Given the description of an element on the screen output the (x, y) to click on. 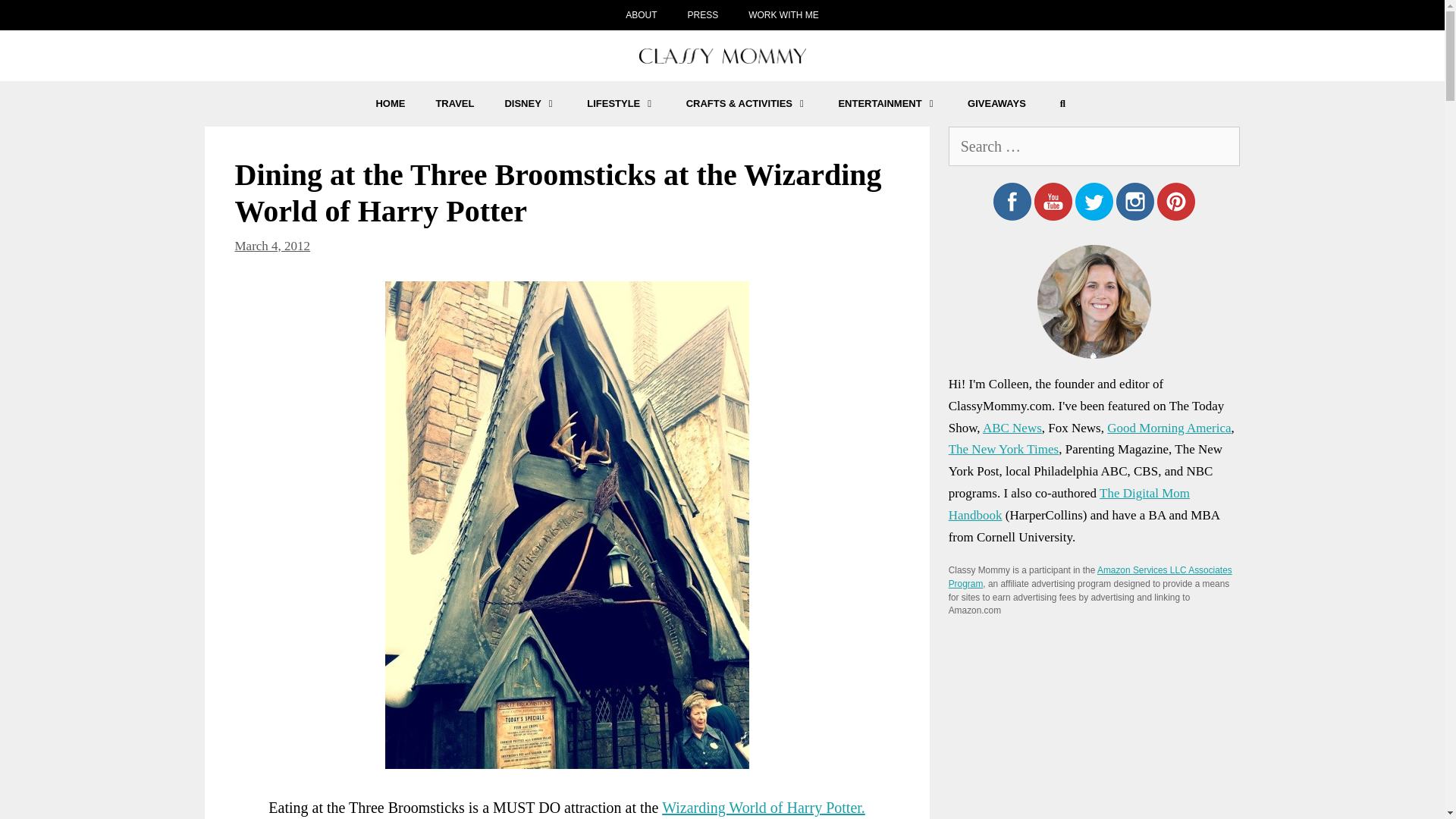
Search (1062, 103)
PRESS (702, 15)
March 4, 2012 (272, 245)
ABOUT (640, 15)
Wizarding World of Harry Potter. (763, 807)
HOME (389, 103)
Classy Mommy (722, 55)
Classy Mommy (722, 54)
DISNEY (530, 103)
